Given the description of an element on the screen output the (x, y) to click on. 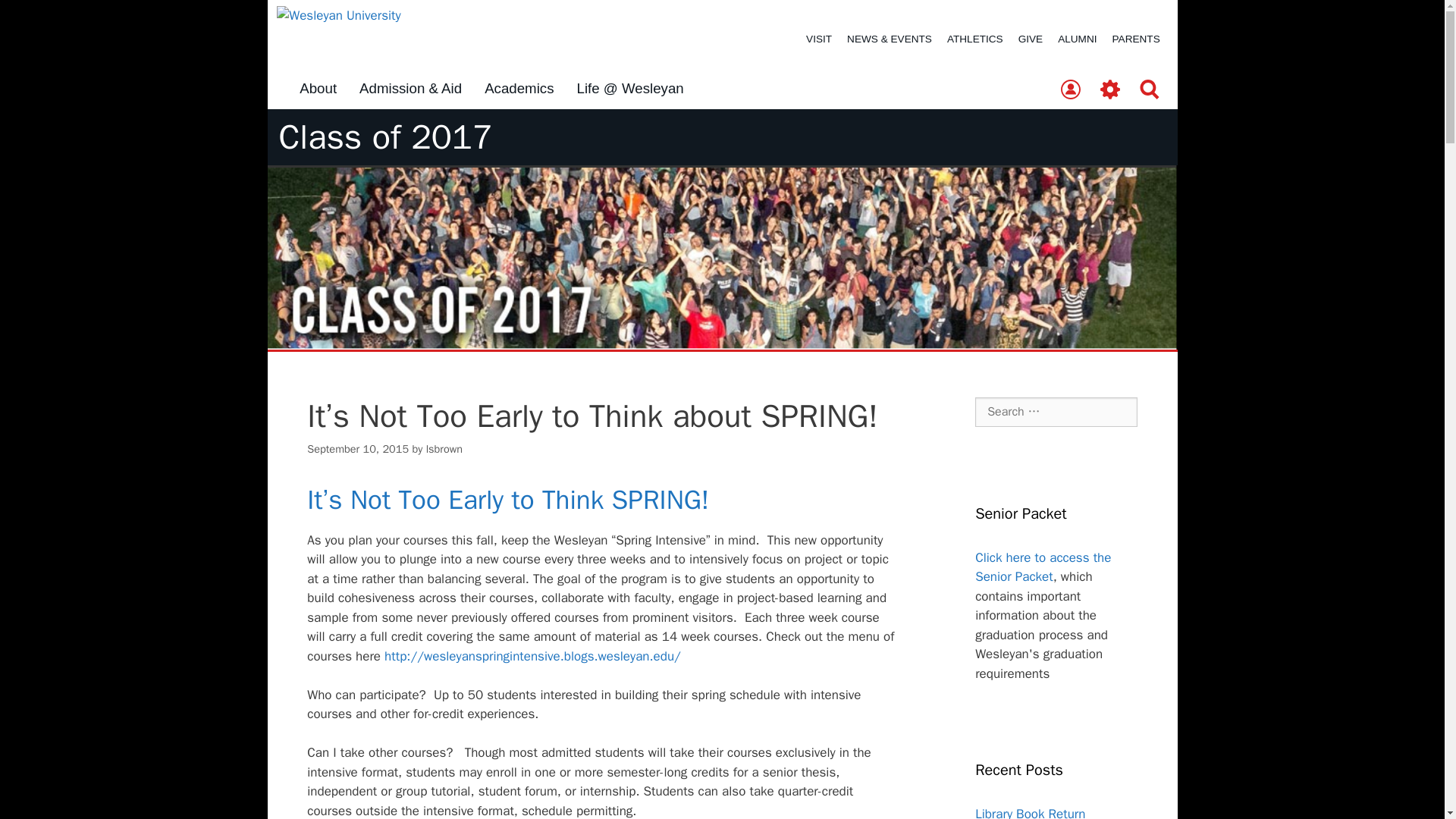
Academics (518, 89)
GIVE (1029, 39)
Search (1149, 90)
ALUMNI (1076, 39)
Tools (1109, 90)
ATHLETICS (974, 39)
Search (35, 18)
View all posts by lsbrown (444, 448)
About (317, 89)
Search for: (1056, 411)
lsbrown (444, 448)
VISIT (818, 39)
PARENTS (1136, 39)
Click here to access the Senior Packet (1042, 567)
Directory (1069, 90)
